Given the description of an element on the screen output the (x, y) to click on. 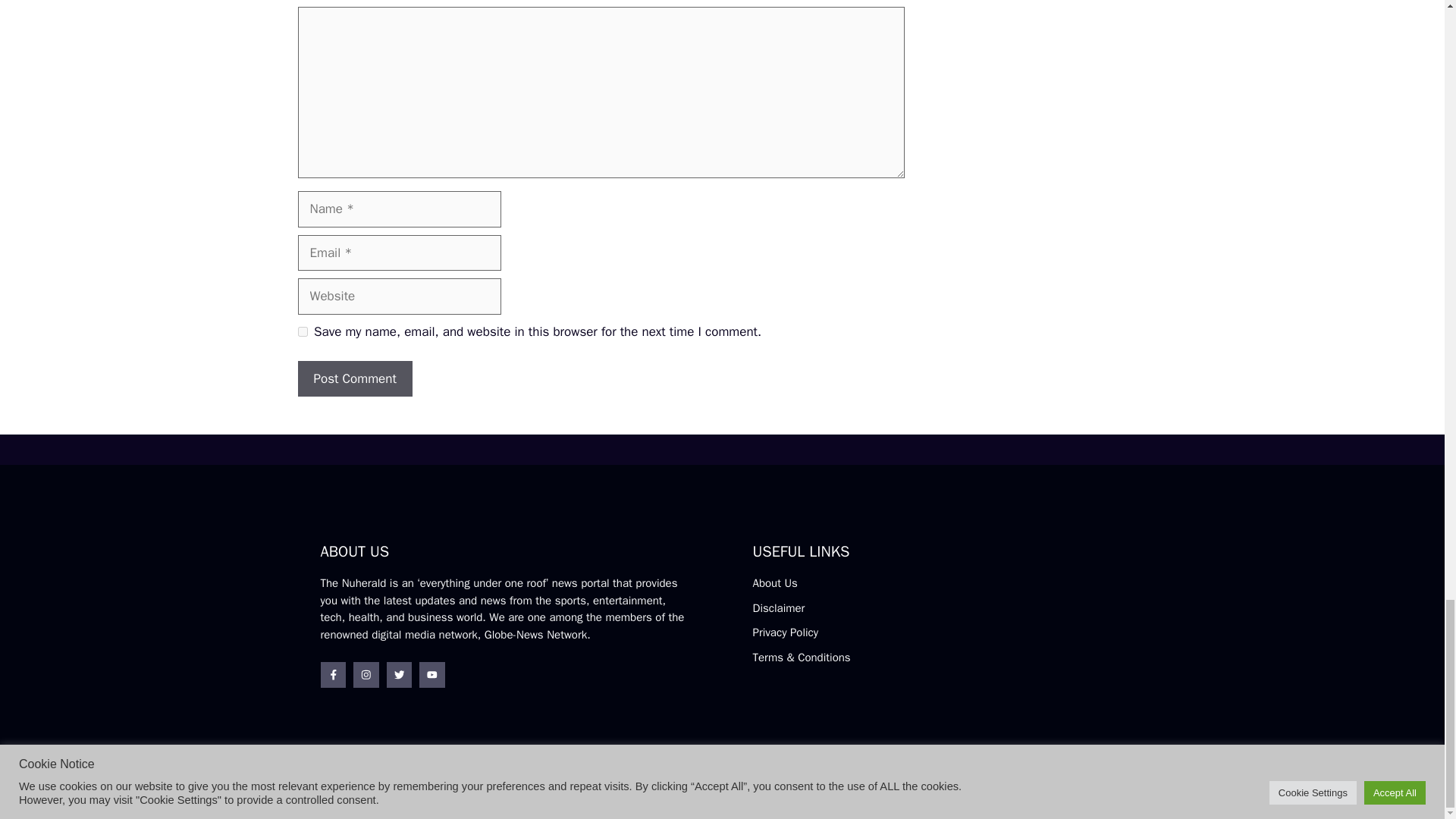
yes (302, 331)
Privacy Policy (785, 632)
About Us (774, 582)
Advertise (1032, 790)
Post Comment (354, 379)
Post Comment (354, 379)
Contact Us (1096, 791)
Disclaimer (778, 608)
